Given the description of an element on the screen output the (x, y) to click on. 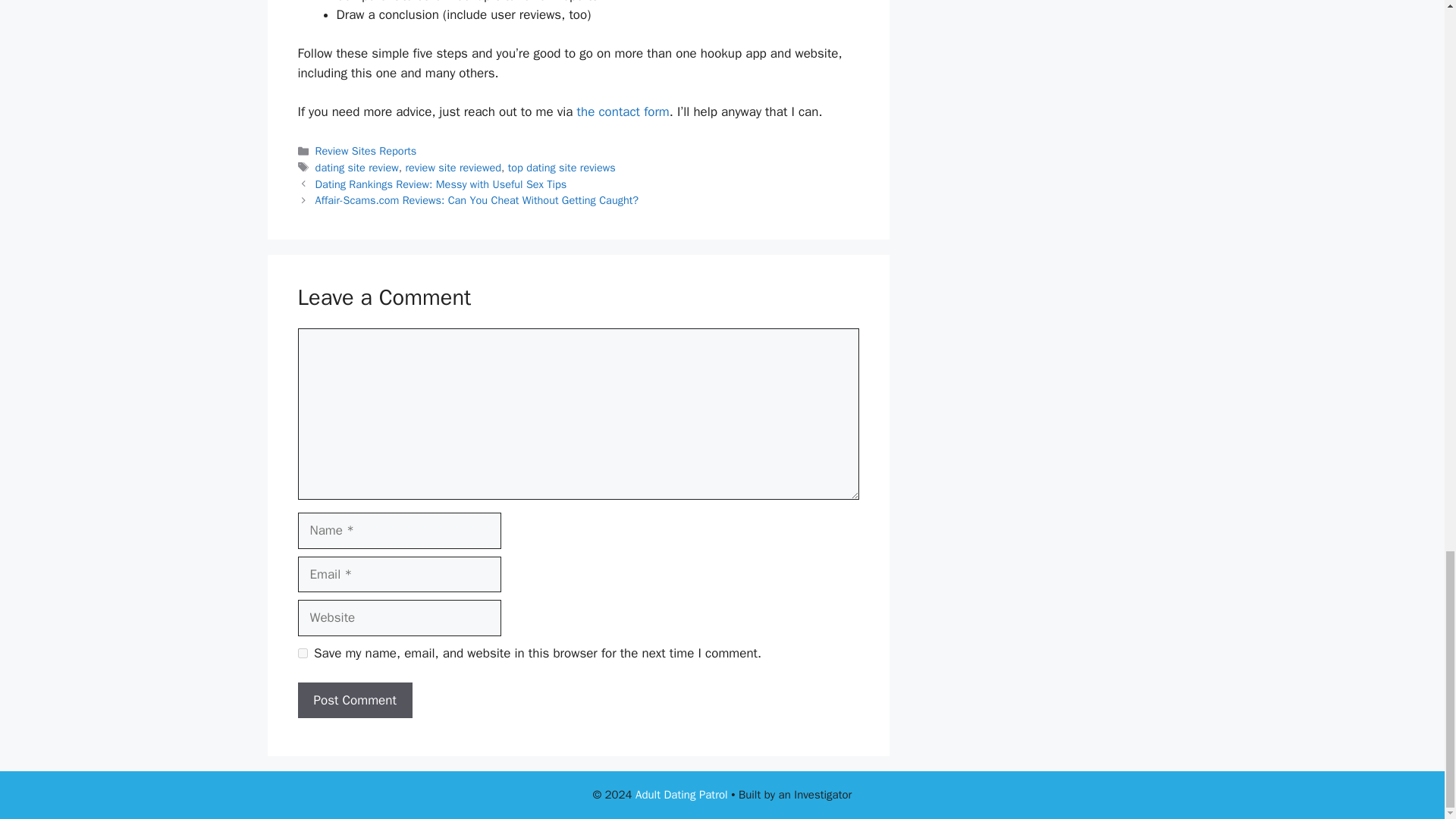
Review Sites Reports (365, 151)
top dating site reviews (561, 167)
Post Comment (354, 700)
review site reviewed (452, 167)
dating site review (356, 167)
Post Comment (354, 700)
Adult Dating Patrol (681, 794)
Dating Rankings Review: Messy with Useful Sex Tips (441, 183)
yes (302, 653)
